Given the description of an element on the screen output the (x, y) to click on. 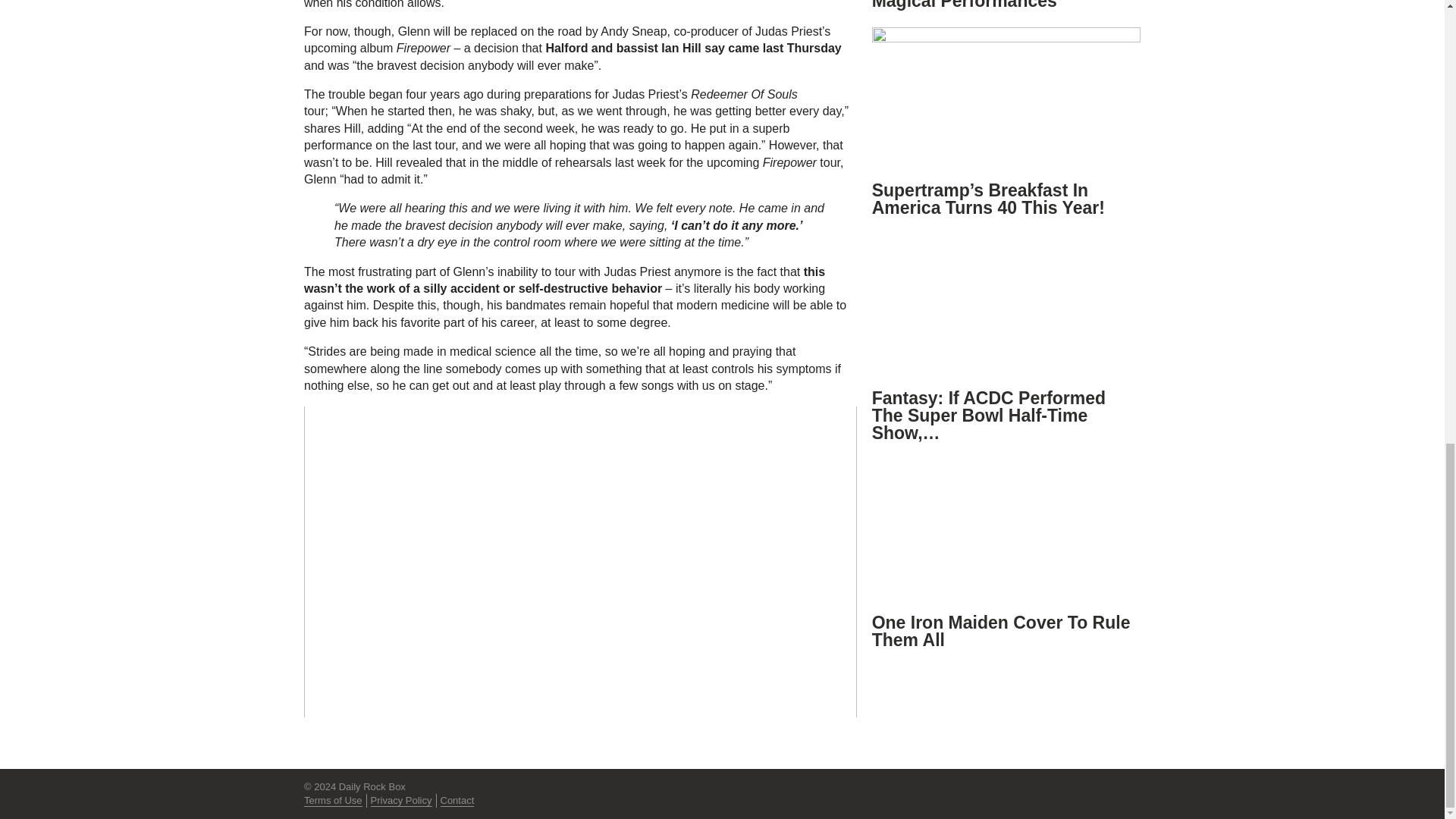
Terms of Use (333, 800)
One Iron Maiden Cover To Rule Them All (1001, 631)
